Given the description of an element on the screen output the (x, y) to click on. 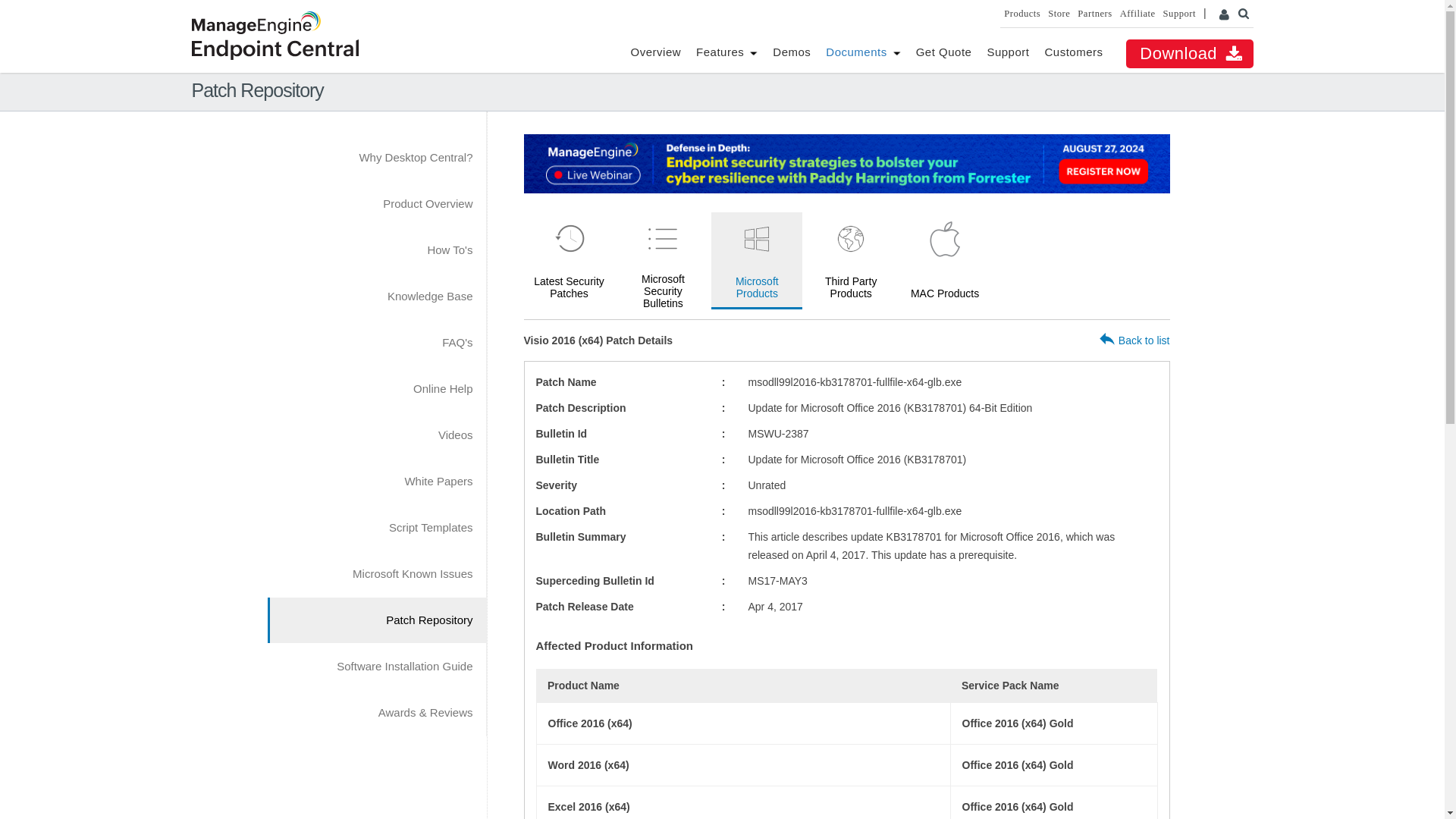
Online Help (375, 388)
Microsoft Known Issues (375, 574)
Download ManageEngine Desktop Central (1188, 53)
Videos (375, 434)
Overview (655, 51)
FAQ's (375, 342)
Features (719, 51)
Script Templates (375, 527)
Support (1008, 51)
Product Overview (375, 203)
